Given the description of an element on the screen output the (x, y) to click on. 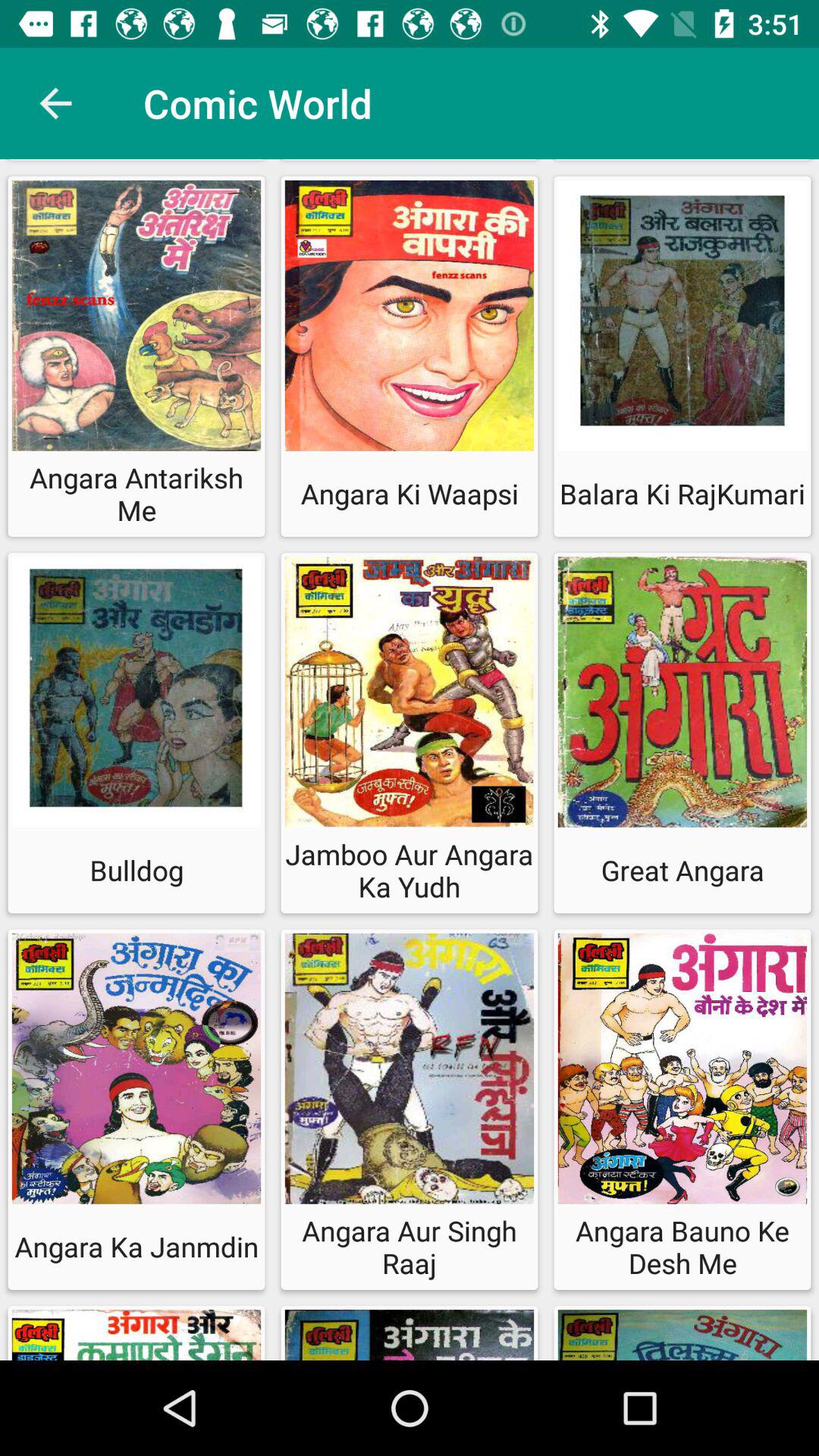
the third image of first row (681, 319)
click on option next to bulldog option (409, 733)
select the second row of first image (136, 695)
choose image above text jamboo aur angara ka yudh (409, 695)
